Given the description of an element on the screen output the (x, y) to click on. 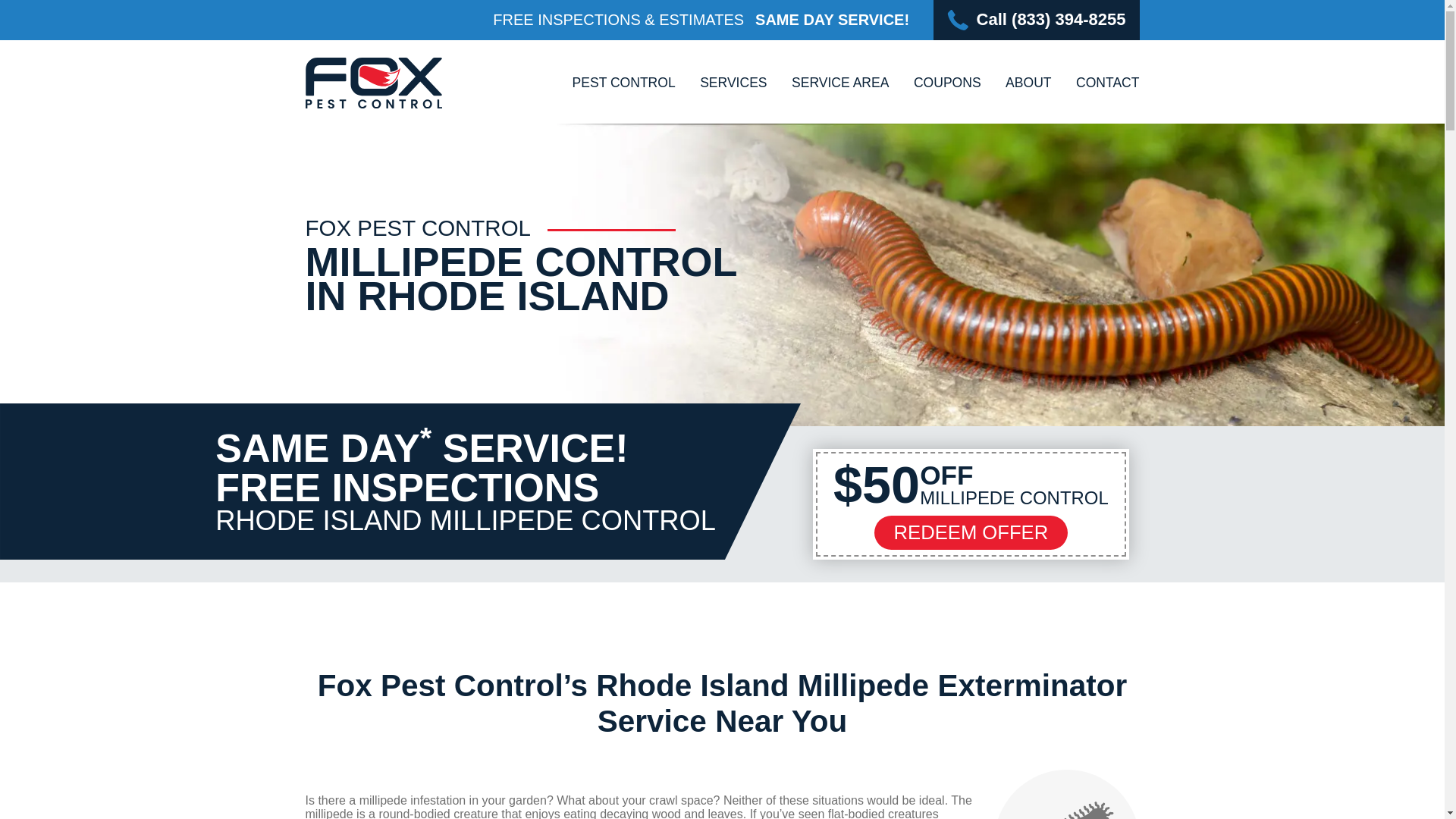
COUPONS (947, 82)
SERVICES (733, 82)
PEST CONTROL (623, 82)
ABOUT (1028, 82)
SERVICE AREA (840, 82)
